Given the description of an element on the screen output the (x, y) to click on. 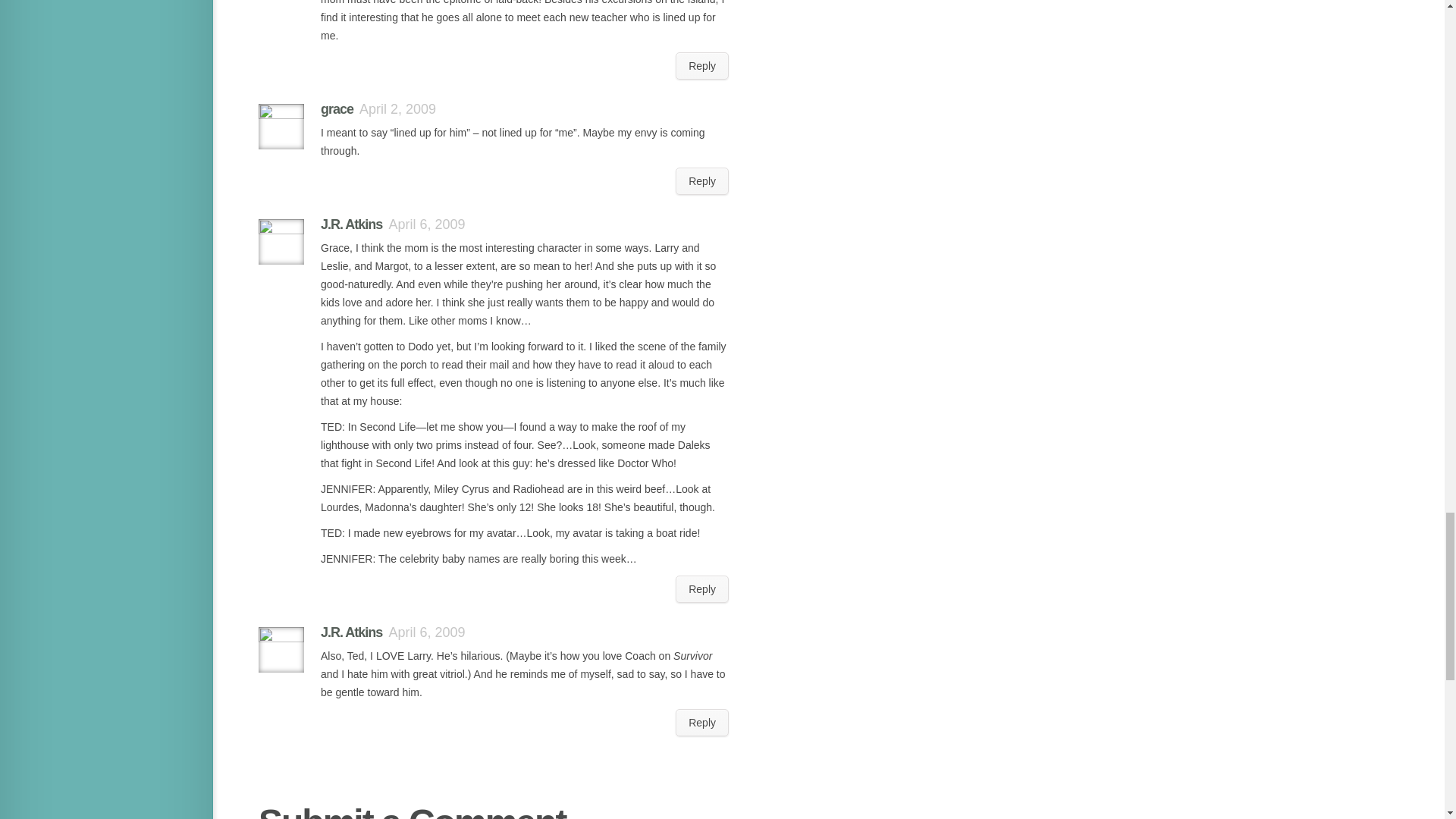
J.R. Atkins (350, 224)
J.R. Atkins (350, 631)
Reply (702, 65)
Reply (702, 588)
Reply (702, 180)
Reply (702, 722)
